Given the description of an element on the screen output the (x, y) to click on. 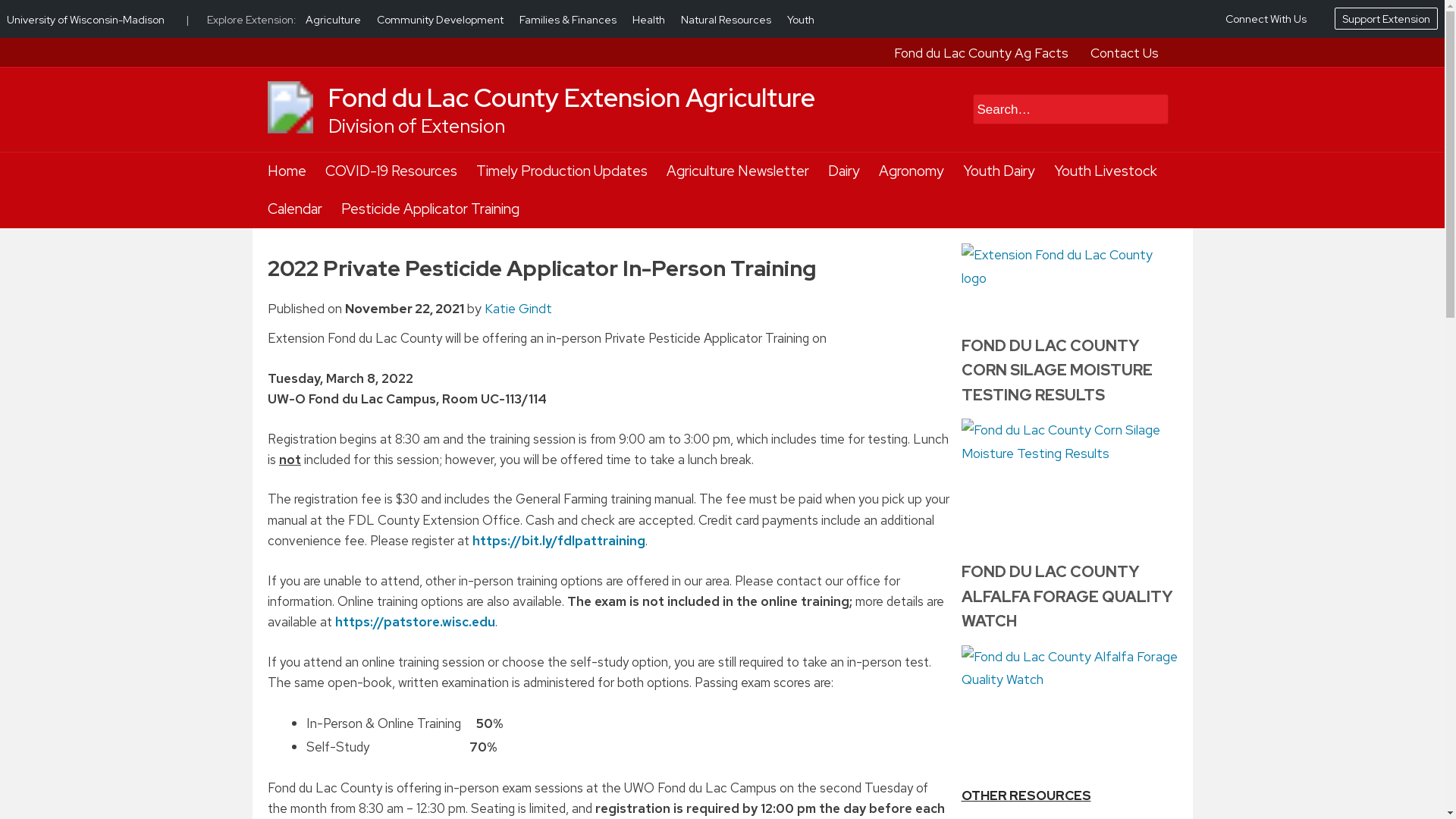
Pesticide Applicator Training (429, 209)
Farmer-to-Farmer (1015, 817)
Providing Extension Agriculture Resources (289, 138)
Fond du Lac County Ag Facts (980, 53)
Contact Us (1124, 53)
Fond du Lac County Extension Agriculture (570, 97)
Search (1056, 109)
Youth Livestock (1105, 171)
Fond du Lac County Corn Silage Moisture Testing Results (1068, 473)
Agriculture Newsletter (736, 171)
Youth Dairy (998, 171)
Division of Extension (415, 125)
Home (285, 171)
Fond du Lac County Alfalfa Forage Quality Watch (1068, 700)
COVID-19 Resources (390, 171)
